Given the description of an element on the screen output the (x, y) to click on. 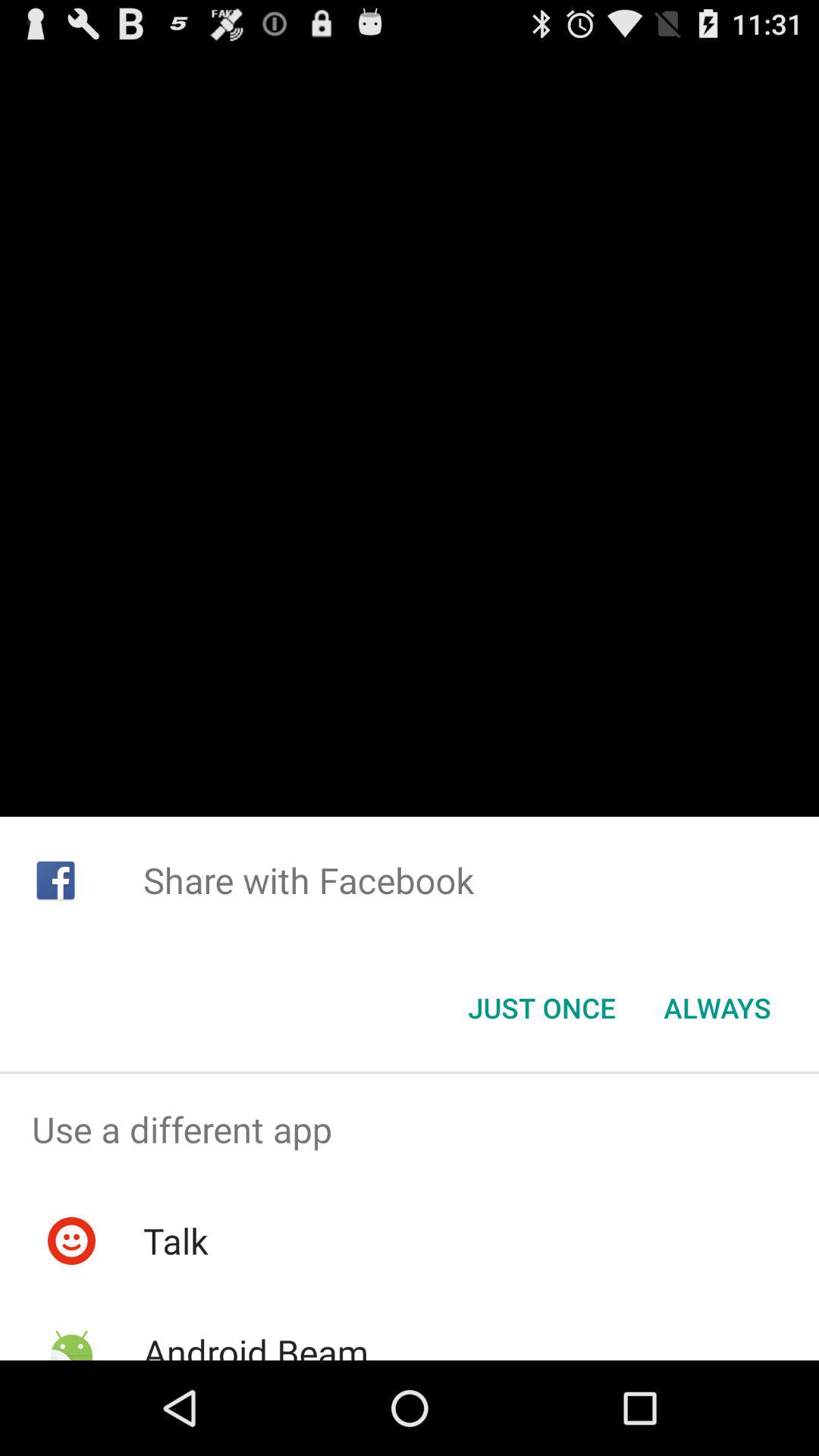
launch item to the right of just once icon (717, 1007)
